Given the description of an element on the screen output the (x, y) to click on. 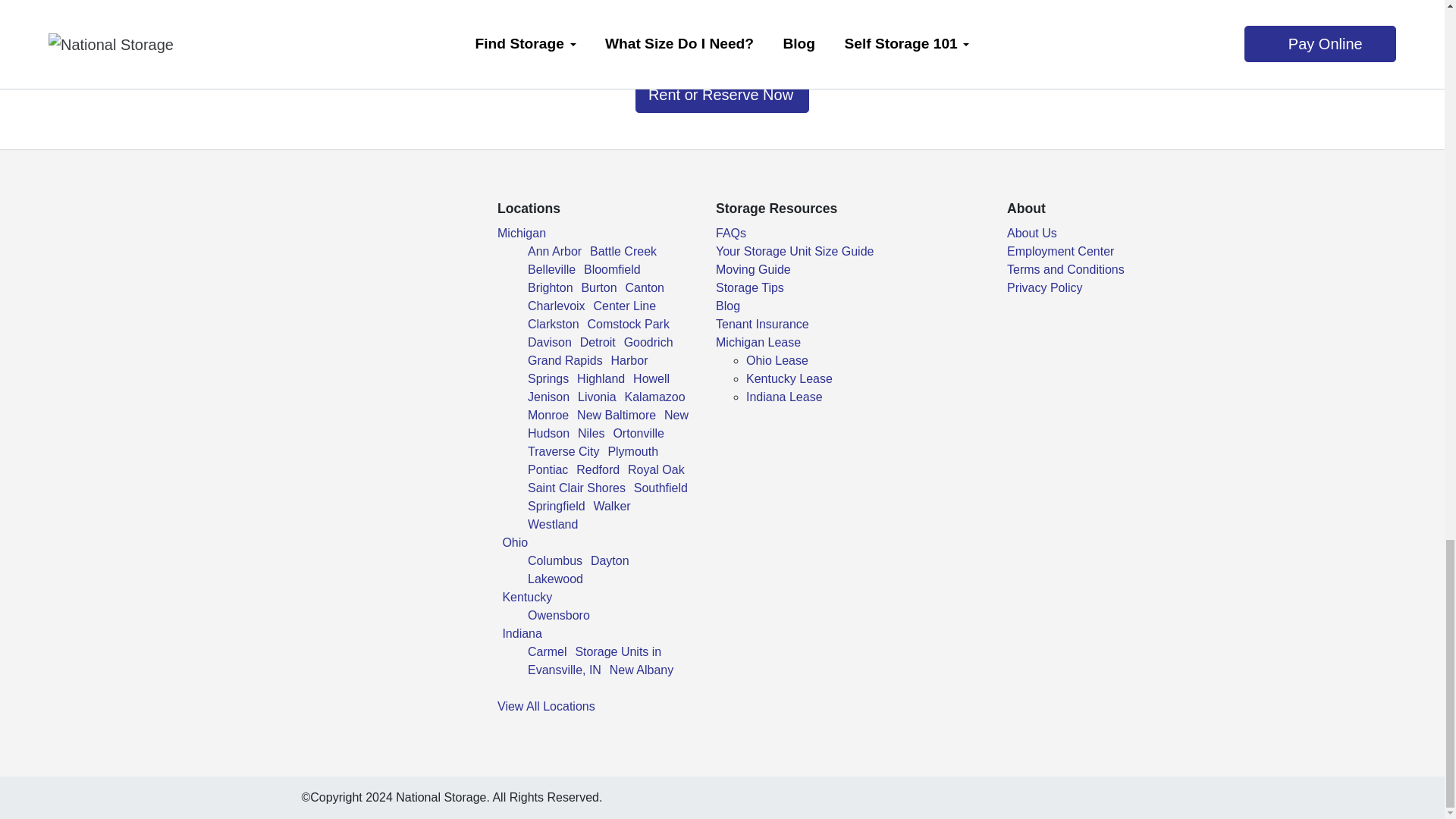
Battle Creek (622, 250)
Rent or Reserve Now (721, 94)
Michigan (521, 232)
Ann Arbor (553, 250)
